Given the description of an element on the screen output the (x, y) to click on. 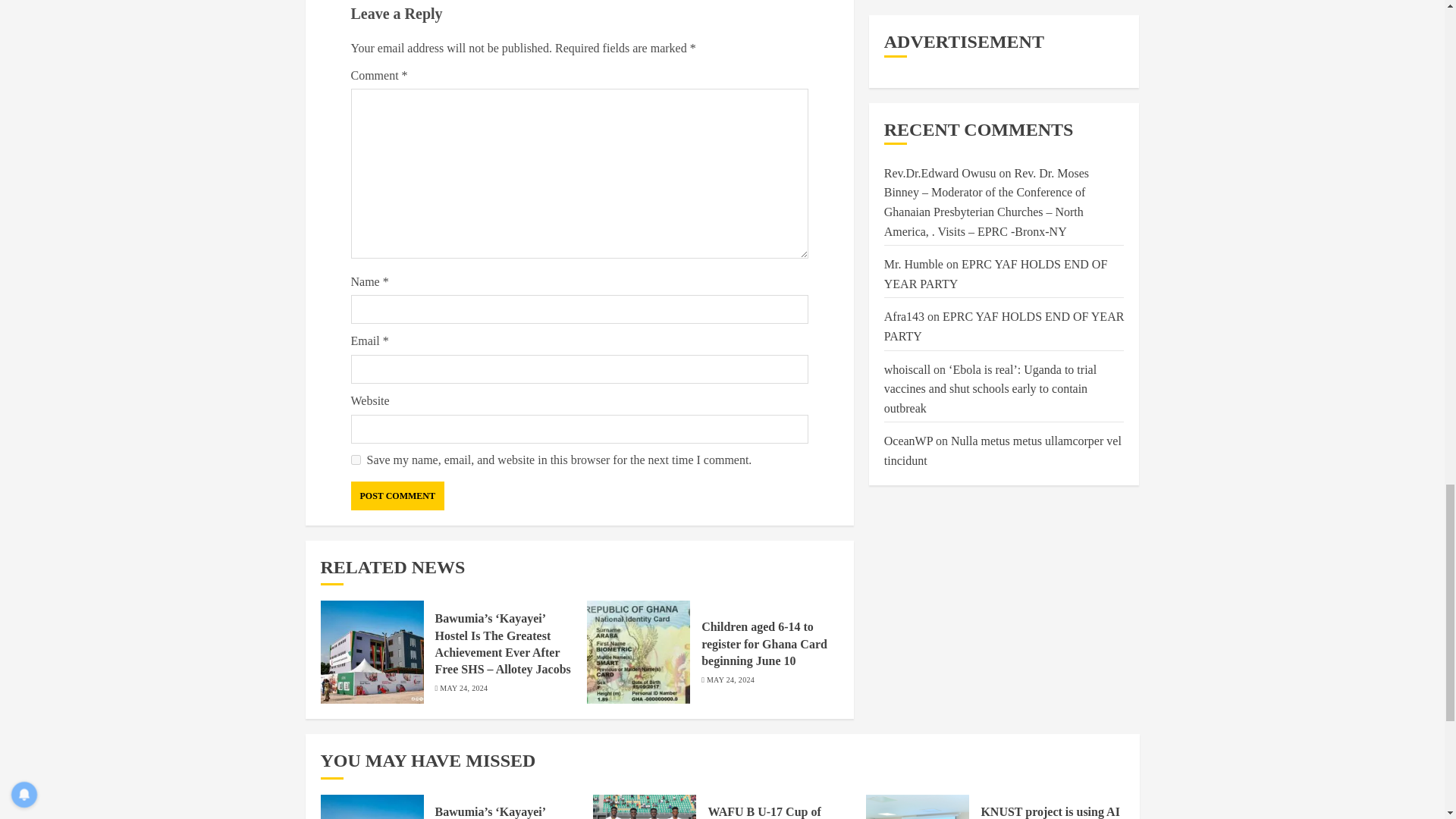
Post Comment (397, 495)
yes (354, 460)
